Given the description of an element on the screen output the (x, y) to click on. 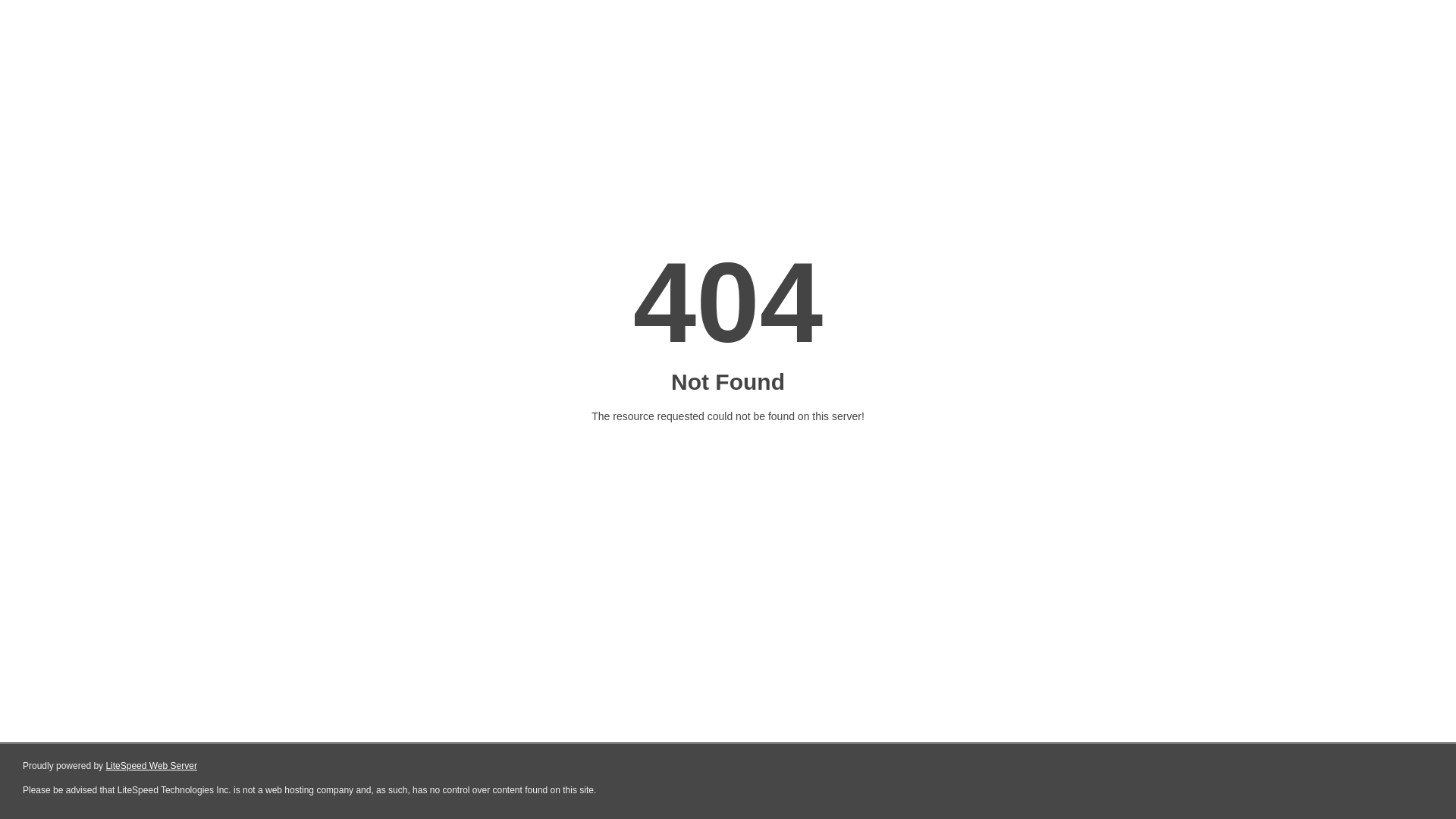
LiteSpeed Web Server Element type: text (151, 765)
